Given the description of an element on the screen output the (x, y) to click on. 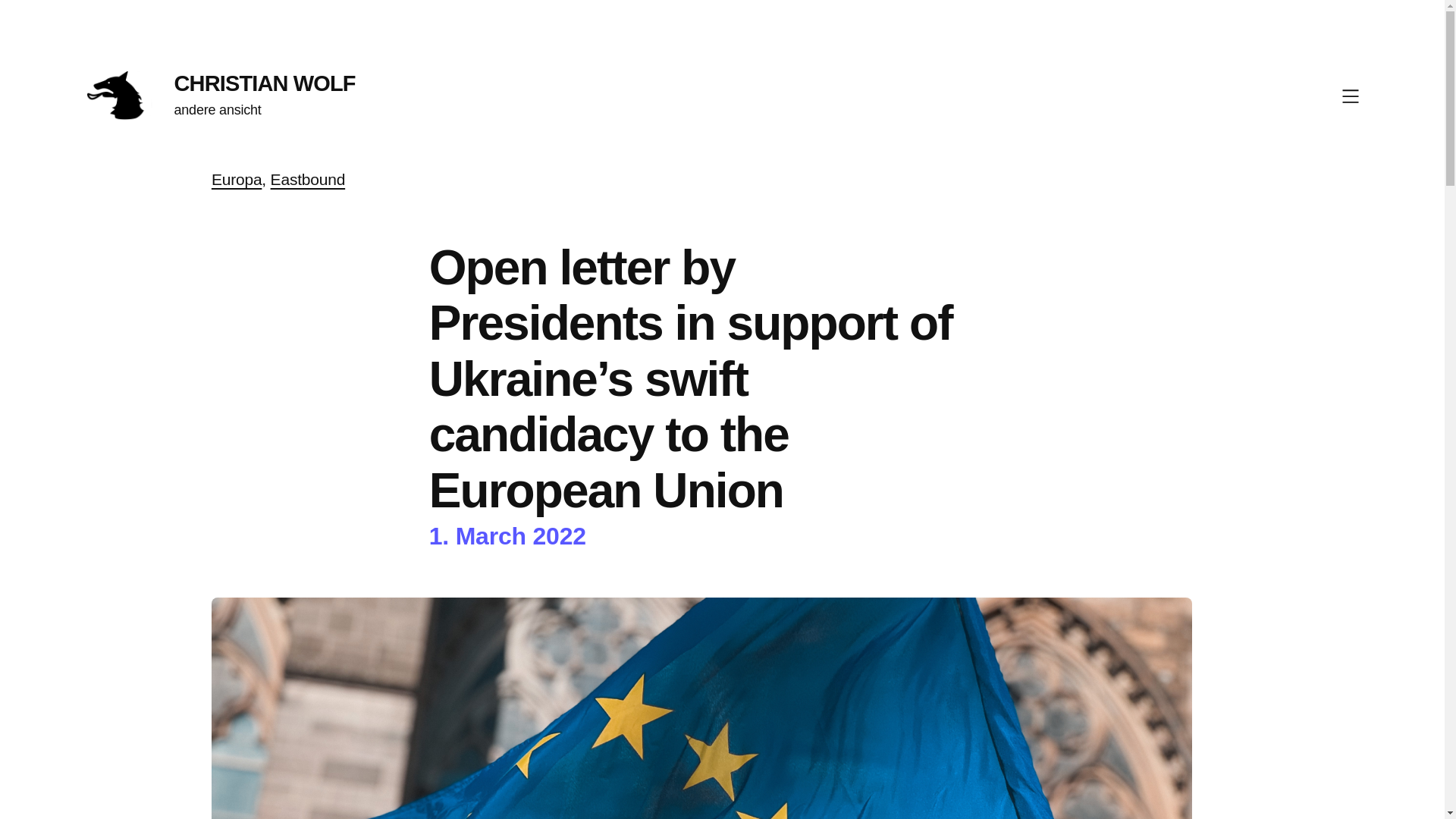
Europa (236, 179)
Eastbound (308, 179)
CHRISTIAN WOLF (264, 83)
